Given the description of an element on the screen output the (x, y) to click on. 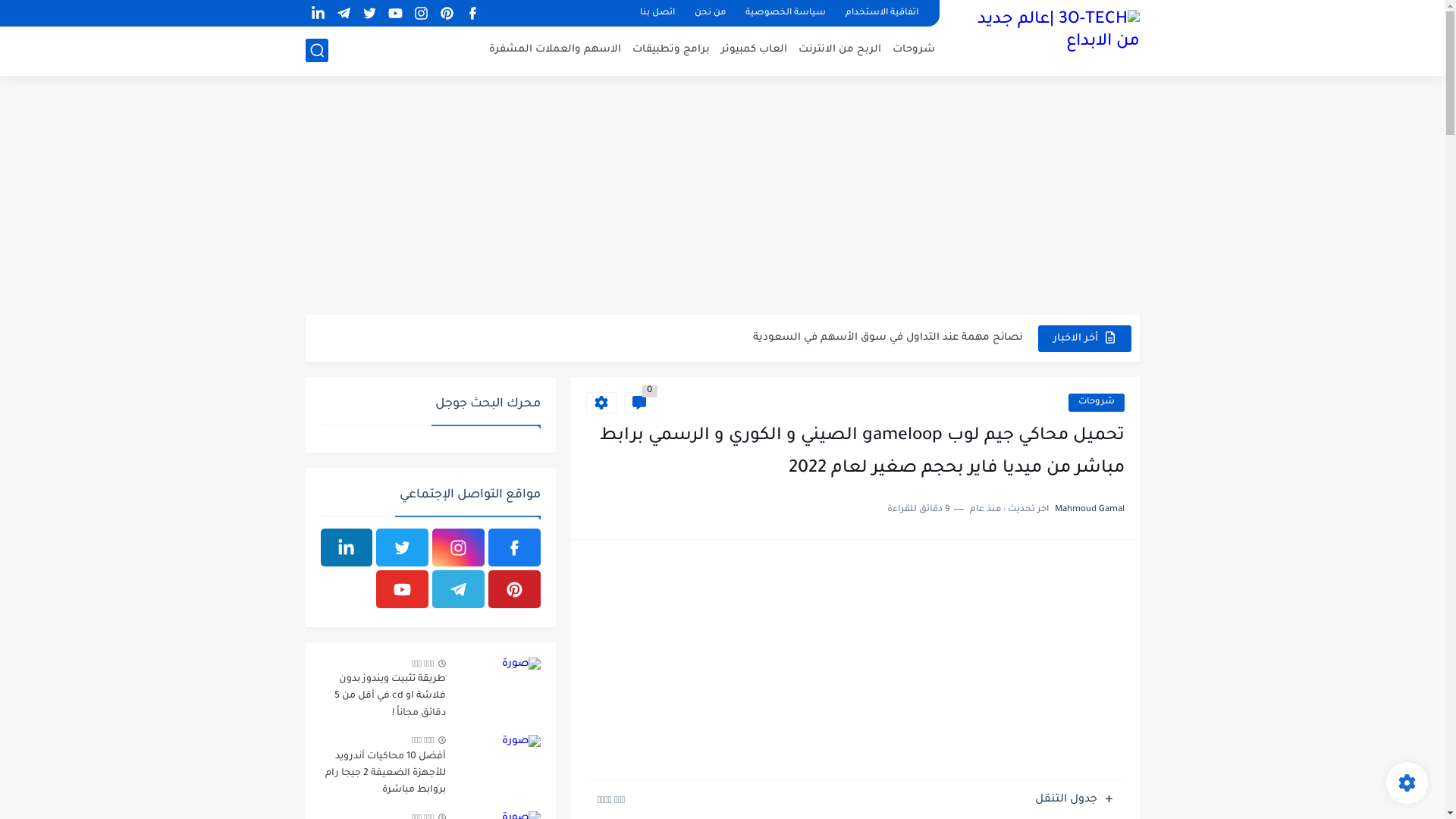
0 Element type: text (638, 402)
linkedin Element type: hover (346, 547)
instagram Element type: hover (458, 547)
pinterest Element type: hover (514, 589)
youtube Element type: hover (395, 13)
youtube Element type: hover (402, 589)
instagram Element type: hover (421, 13)
Advertisement Element type: hover (721, 197)
Advertisement Element type: hover (854, 661)
facebook Element type: hover (473, 13)
twitter Element type: hover (402, 547)
twitter Element type: hover (369, 13)
facebook Element type: hover (514, 547)
pinterest Element type: hover (447, 13)
telegram Element type: hover (458, 589)
telegram Element type: hover (344, 13)
linkedin Element type: hover (318, 13)
